Given the description of an element on the screen output the (x, y) to click on. 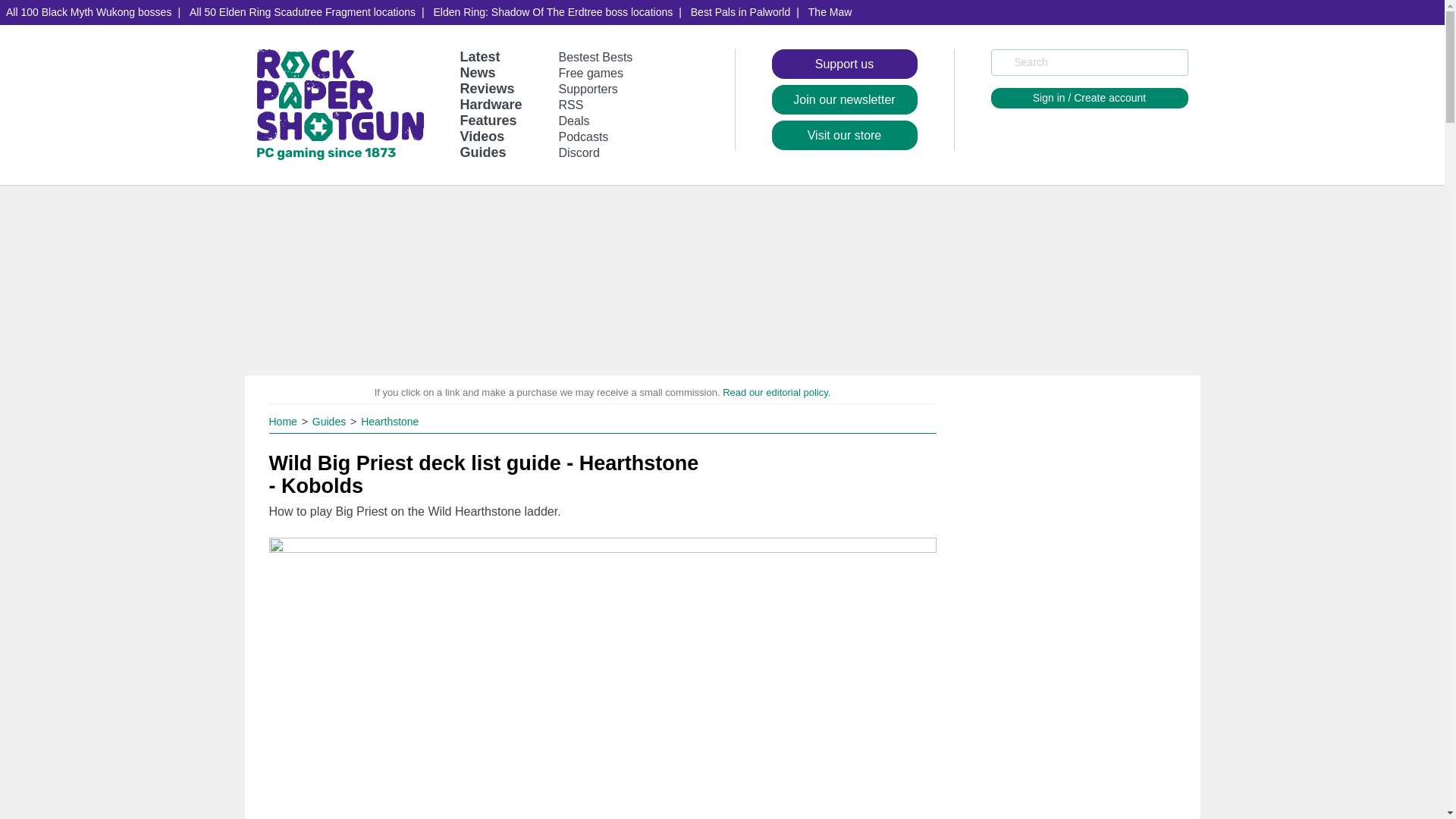
All 100 Black Myth Wukong bosses (88, 12)
Reviews (486, 88)
All 50 Elden Ring Scadutree Fragment locations (302, 12)
Reviews (486, 88)
Home (283, 421)
Elden Ring: Shadow Of The Erdtree boss locations (553, 12)
Home (283, 421)
All 100 Black Myth Wukong bosses (88, 12)
Videos (481, 136)
Visit our store (844, 134)
